Given the description of an element on the screen output the (x, y) to click on. 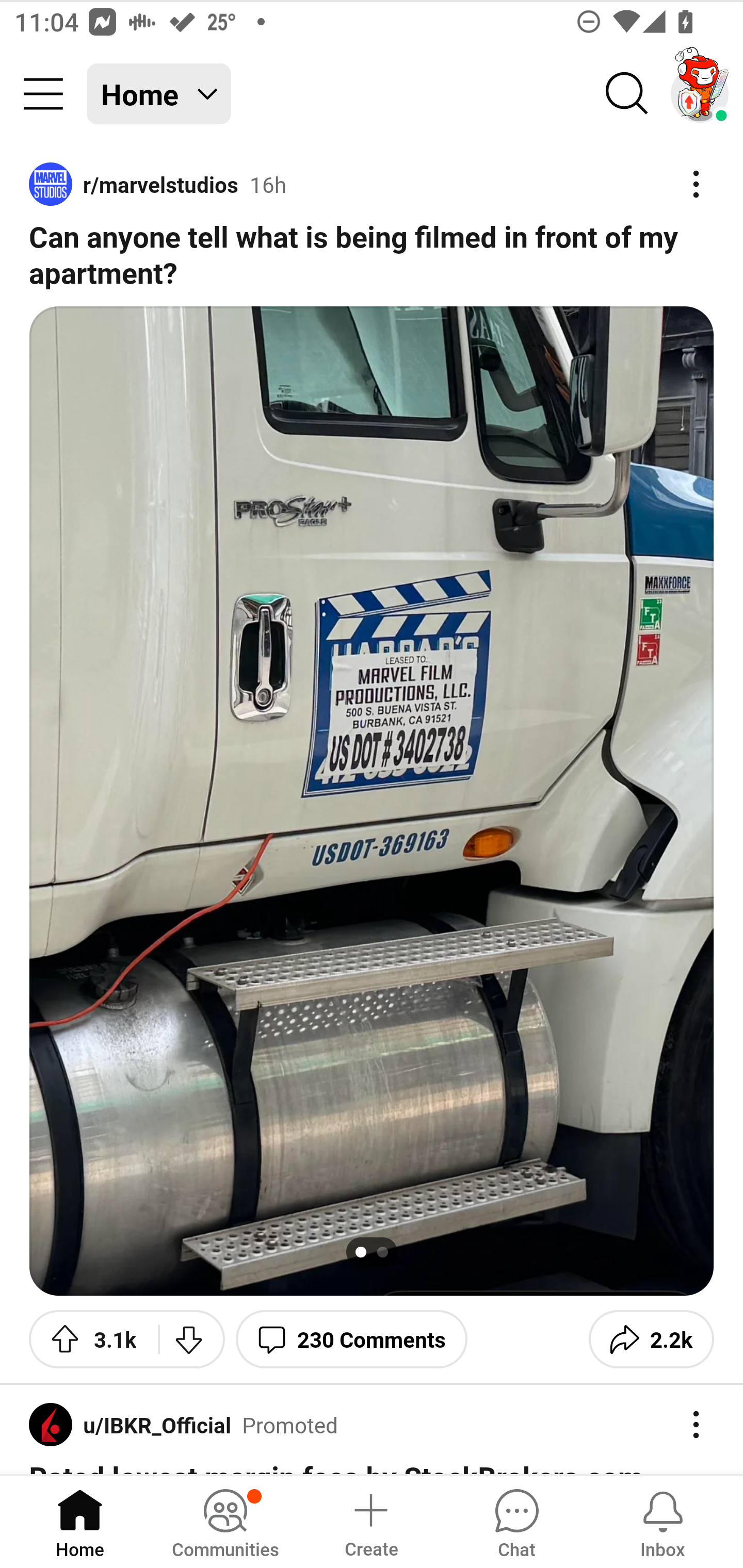
Community menu (43, 93)
Home Home feed (158, 93)
Search (626, 93)
TestAppium002 account (699, 93)
1 of 2, Image, In Image gallery (371, 800)
Home (80, 1520)
Communities, has notifications Communities (225, 1520)
Create a post Create (370, 1520)
Chat (516, 1520)
Inbox (662, 1520)
